Given the description of an element on the screen output the (x, y) to click on. 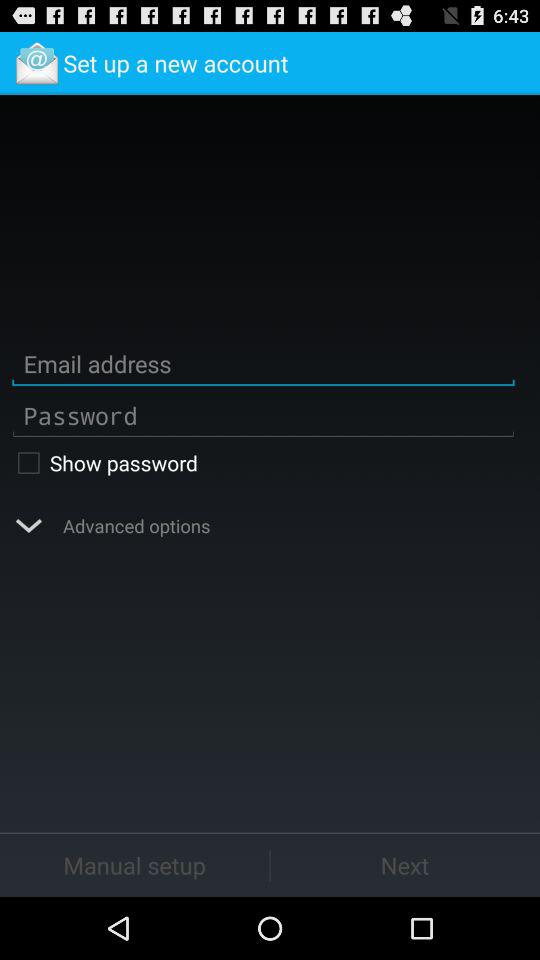
click show password item (263, 462)
